Given the description of an element on the screen output the (x, y) to click on. 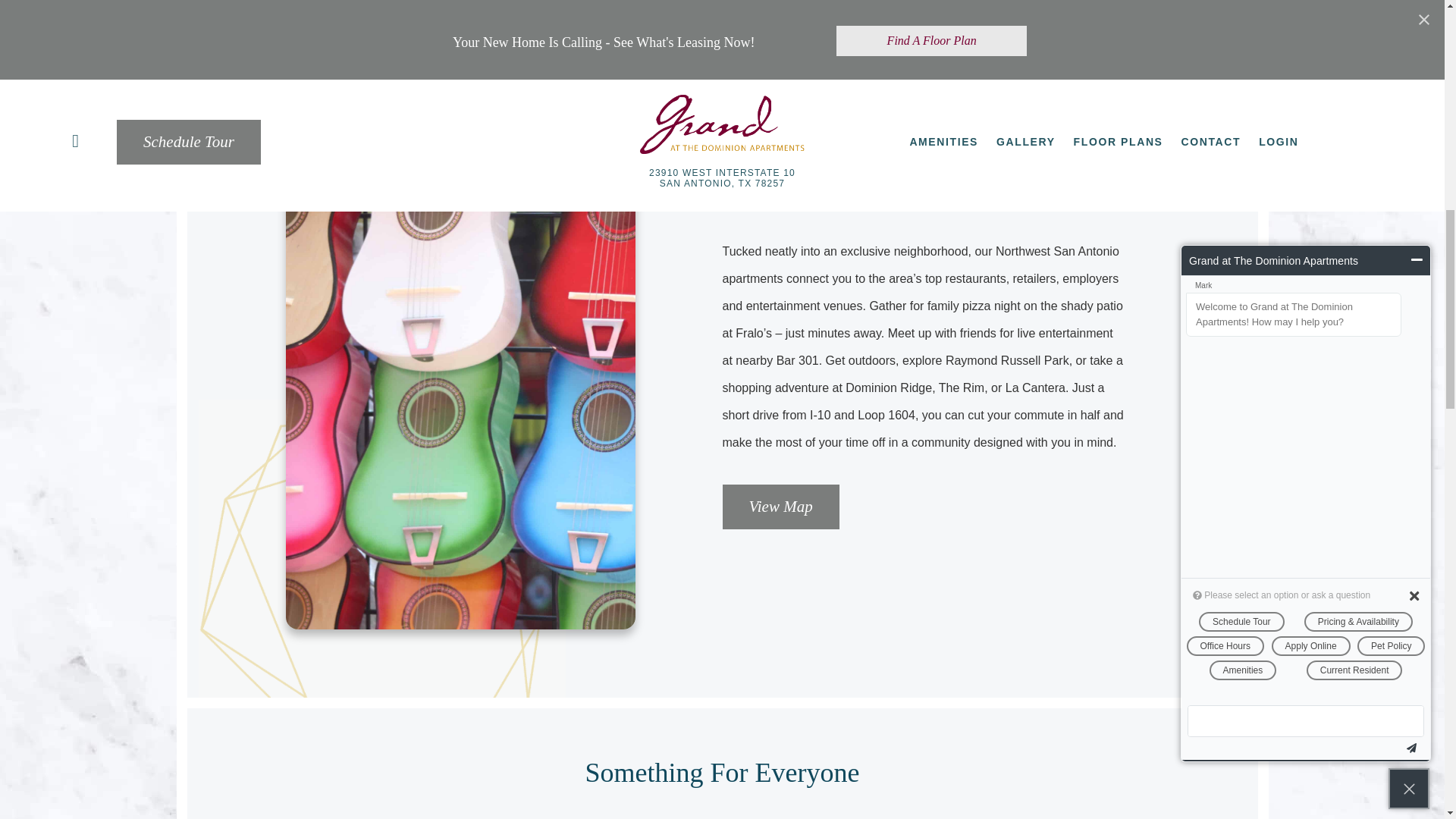
View Map (780, 506)
